Given the description of an element on the screen output the (x, y) to click on. 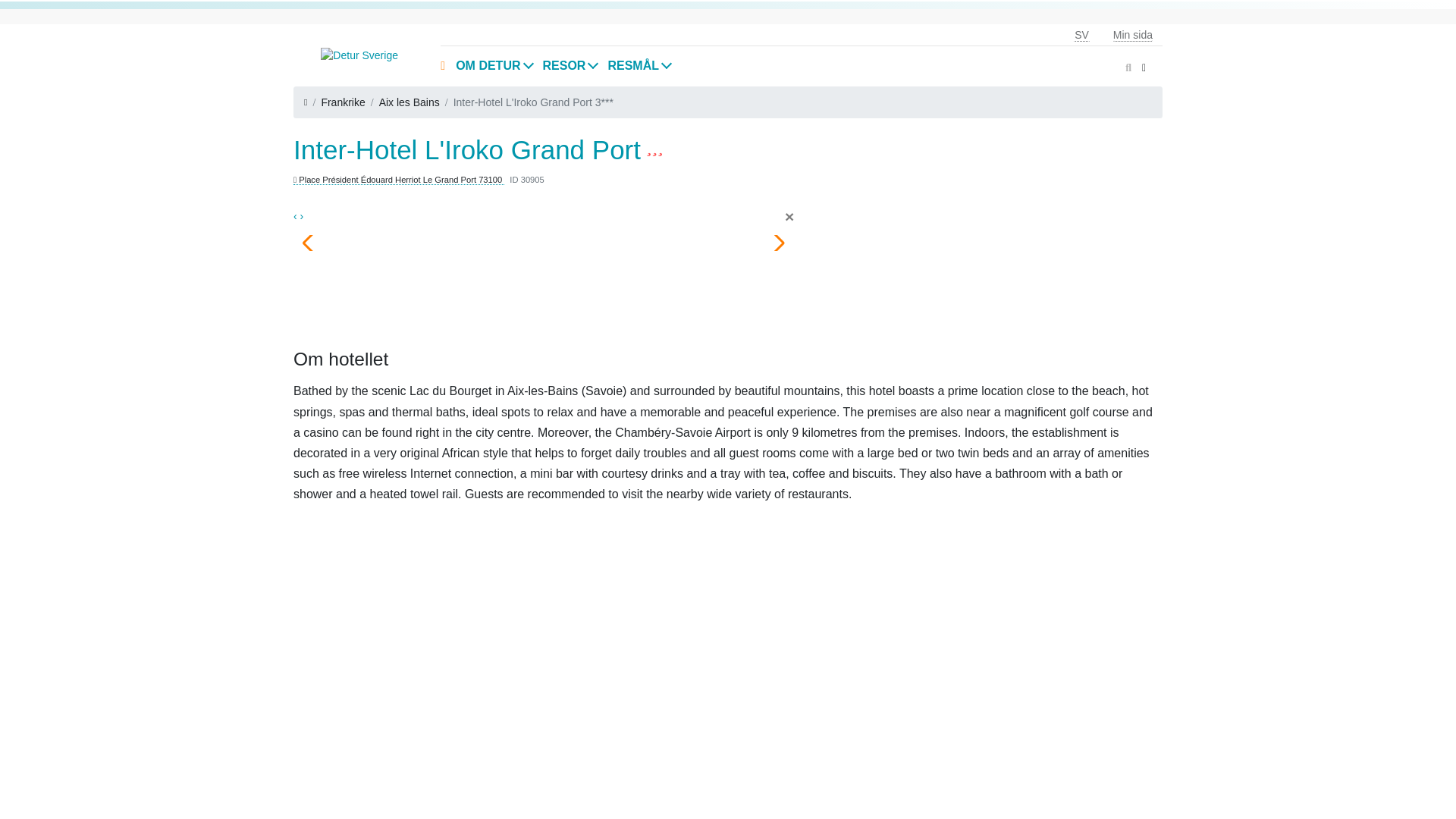
SV (1081, 34)
RESOR (569, 65)
OM DETUR (493, 65)
Min sida (1132, 34)
